Given the description of an element on the screen output the (x, y) to click on. 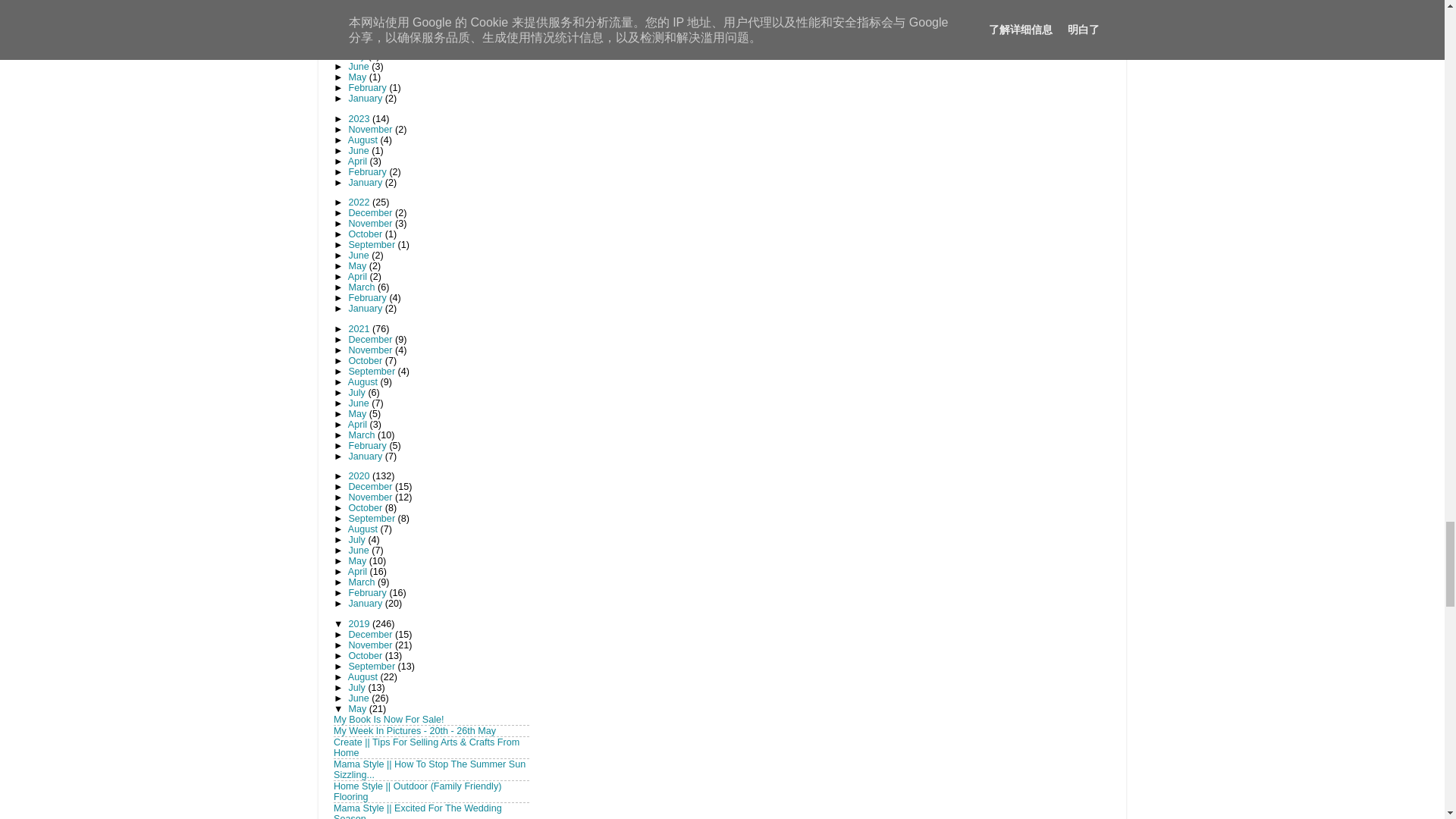
search (370, 7)
search (429, 7)
Search (429, 7)
Search (429, 7)
Search (429, 7)
